Given the description of an element on the screen output the (x, y) to click on. 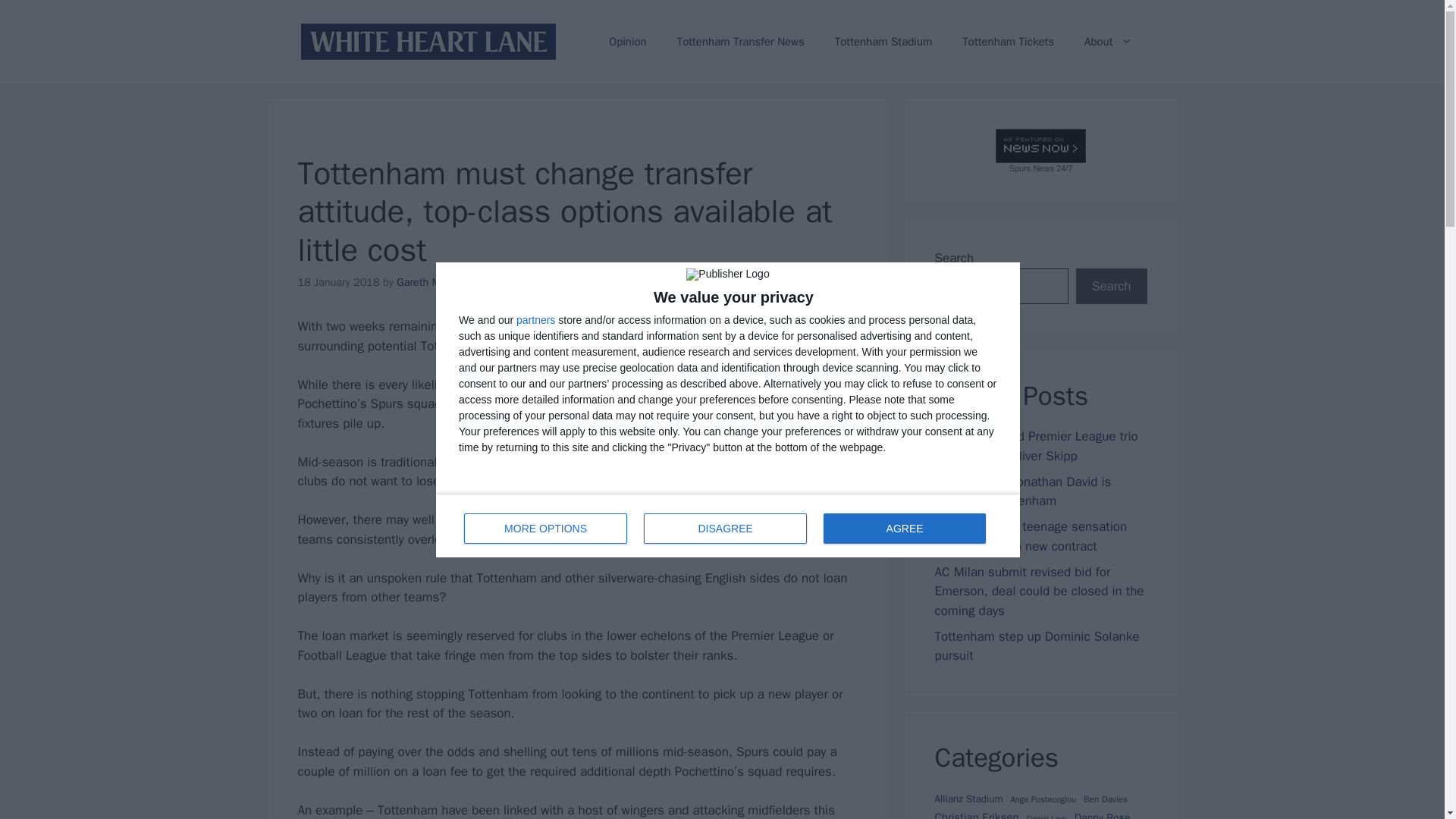
Search (1111, 286)
Spurs tie down teenage sensation Mikey Moore to new contract (1030, 536)
Ben Davies (1104, 799)
Opinion: Why Jonathan David is perfect for Tottenham (1022, 490)
Danny Rose (1102, 814)
View all posts by Gareth McKnight (436, 282)
MORE OPTIONS (545, 527)
Opinion (627, 41)
AGREE (904, 527)
partners (535, 318)
